Given the description of an element on the screen output the (x, y) to click on. 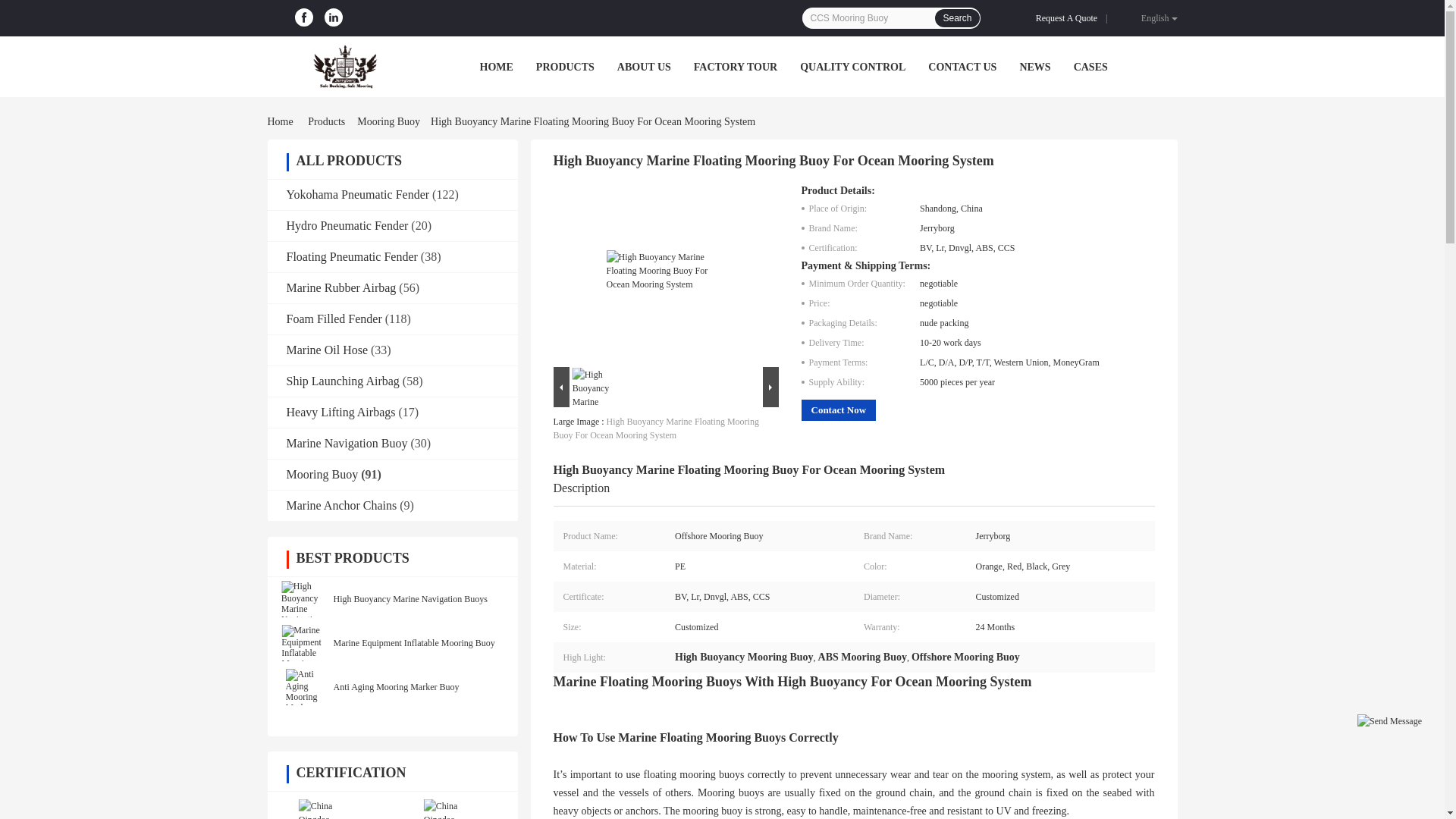
Mooring Buoy (388, 121)
QUALITY CONTROL (852, 66)
ABOUT US (644, 66)
Qingdao Jerryborg Marine Machinery Co., Ltd Facebook (303, 17)
PRODUCTS (564, 66)
HOME (495, 66)
Qingdao Jerryborg Marine Machinery Co., Ltd LinkedIn (333, 17)
CASES (1091, 66)
Yokohama Pneumatic Fender (357, 194)
FACTORY TOUR (735, 66)
